Given the description of an element on the screen output the (x, y) to click on. 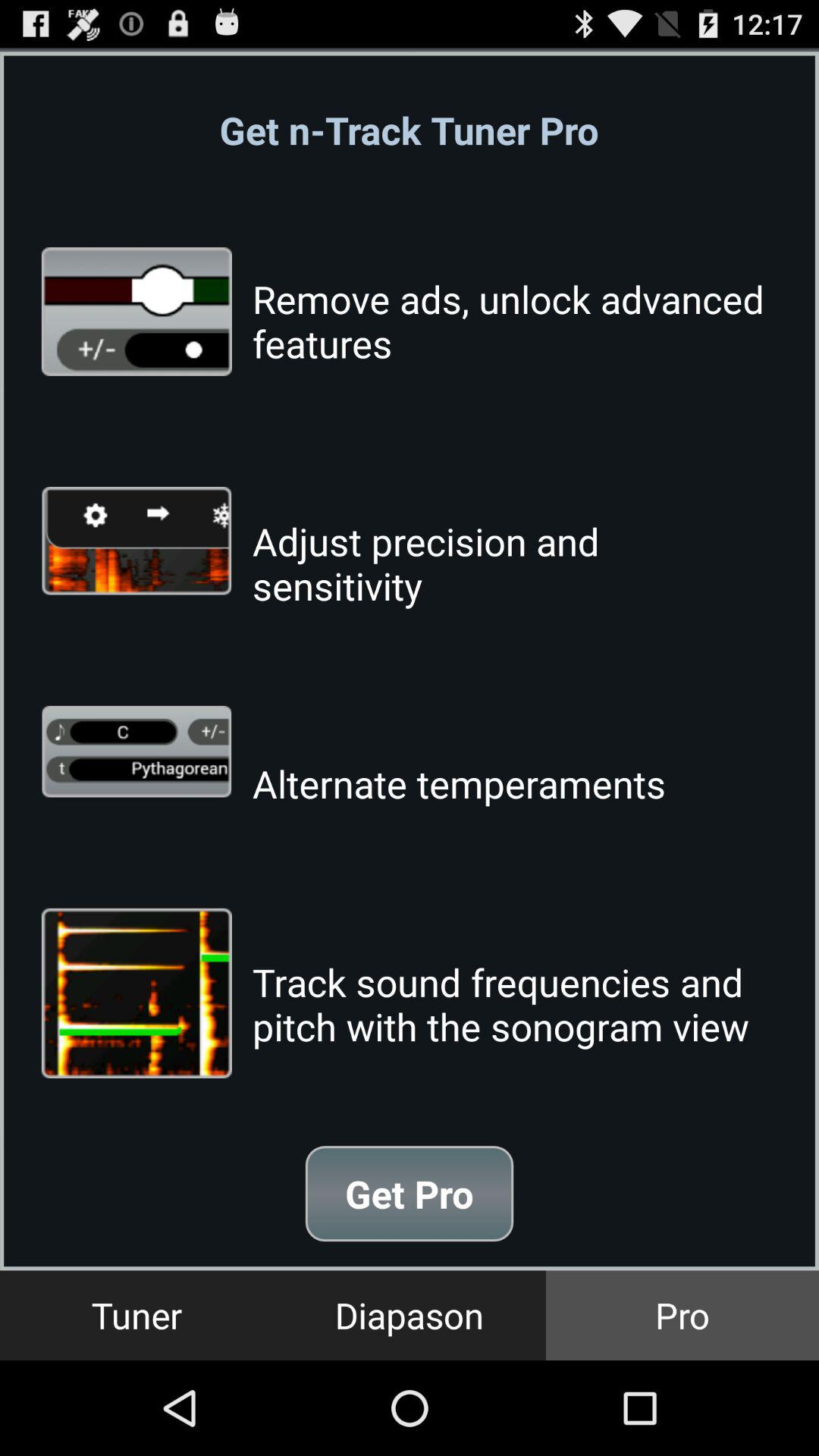
scroll to the diapason (409, 1315)
